Given the description of an element on the screen output the (x, y) to click on. 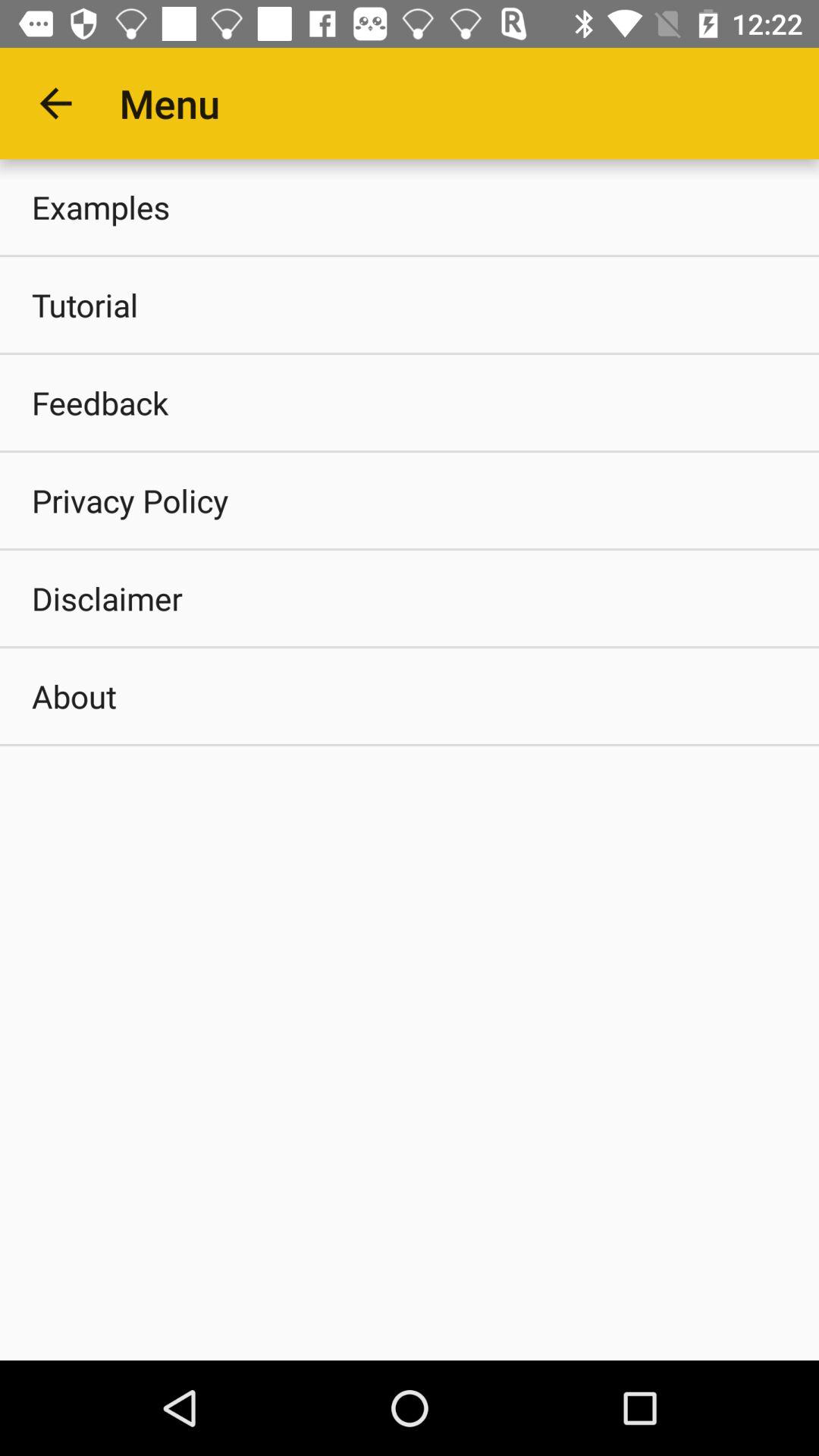
open examples (409, 206)
